Given the description of an element on the screen output the (x, y) to click on. 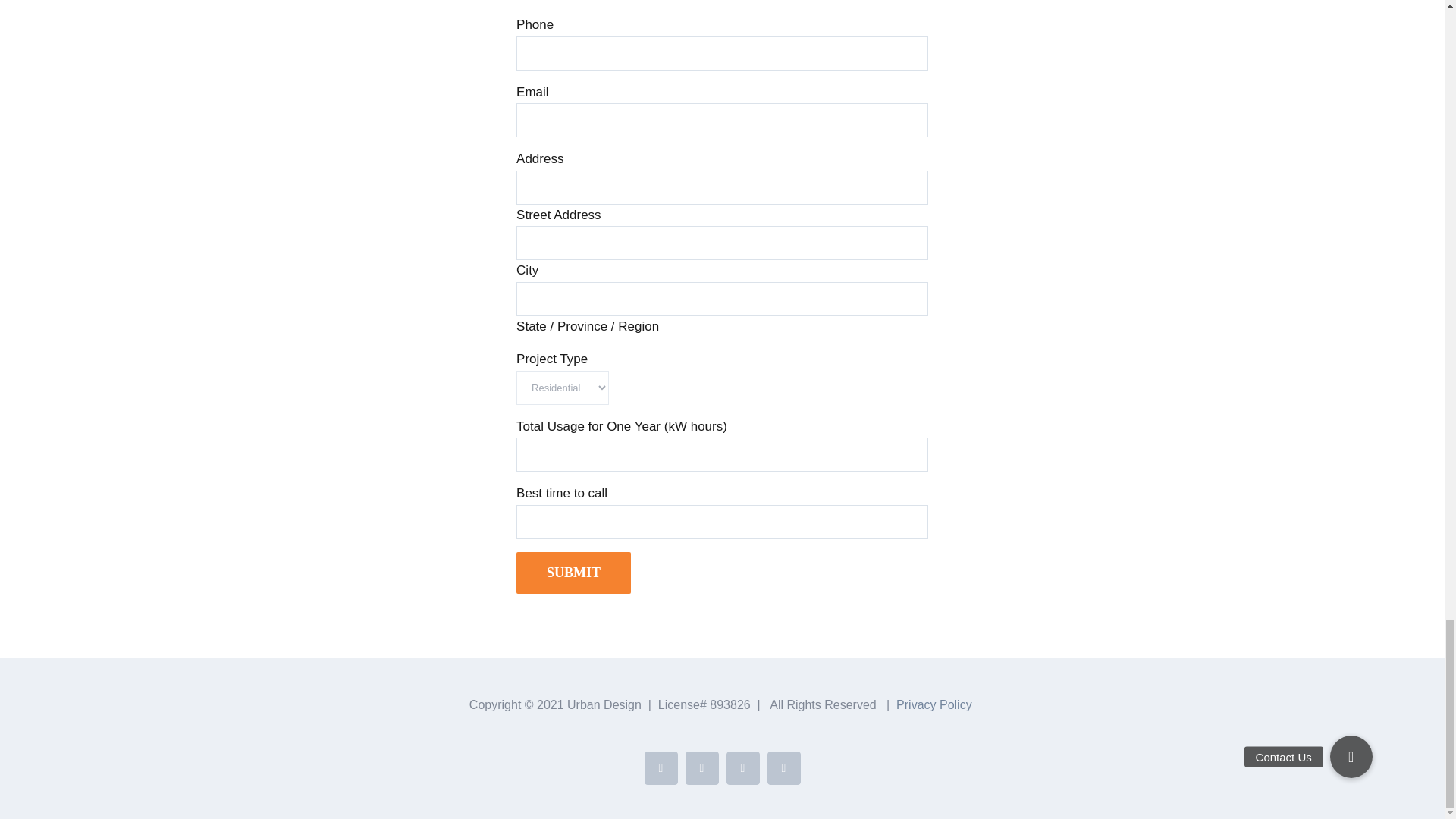
Yelp (783, 767)
YouTube (743, 767)
Submit (573, 572)
Submit (573, 572)
Facebook (661, 767)
YouTube (743, 767)
Yelp (783, 767)
Privacy Policy (934, 704)
Facebook (661, 767)
Twitter (702, 767)
